Given the description of an element on the screen output the (x, y) to click on. 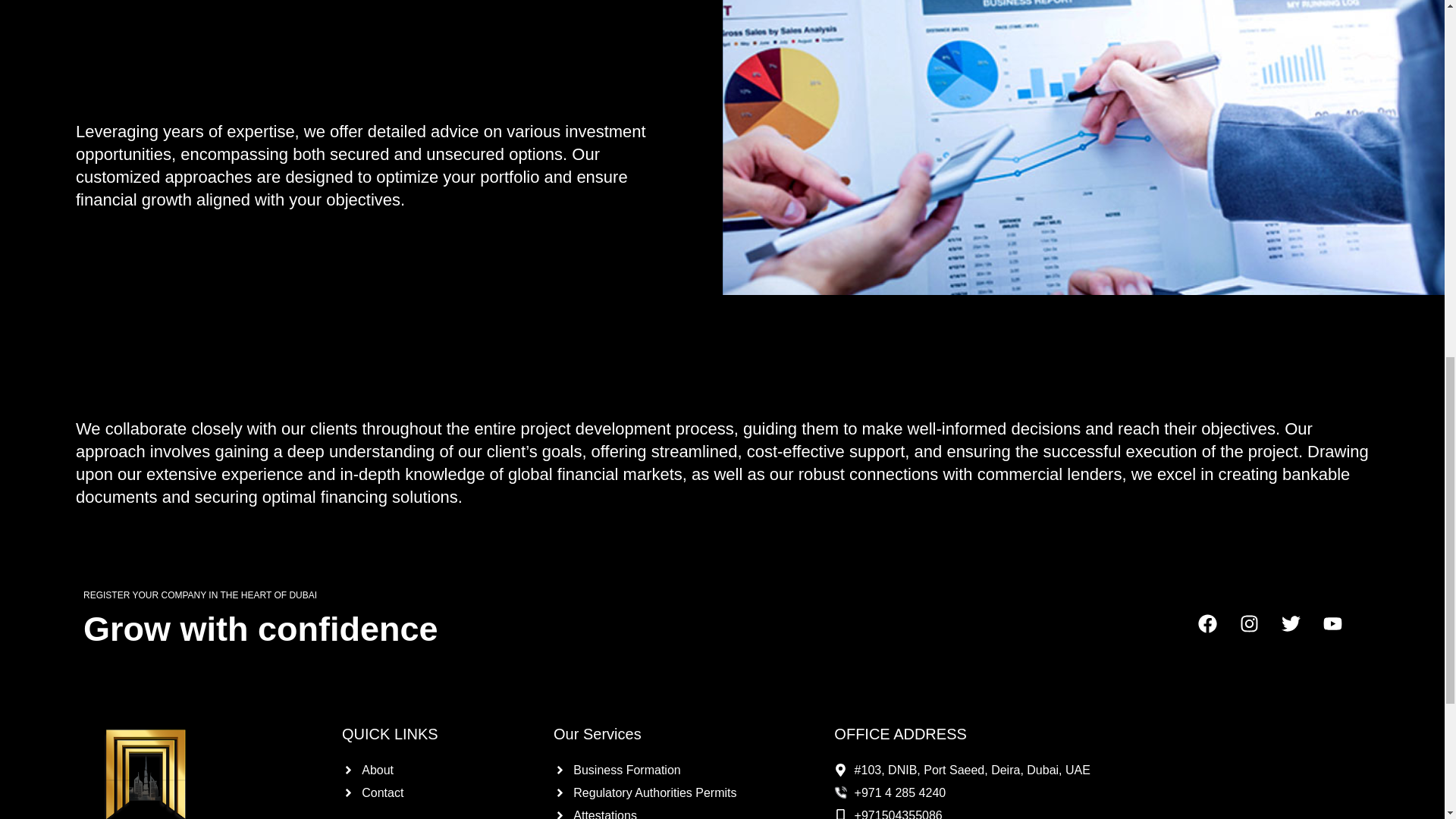
Regulatory Authorities Permits (681, 793)
Twitter (1300, 632)
Facebook (1217, 632)
Contact (440, 793)
Instagram (1259, 632)
Youtube (1342, 632)
Attestations (681, 811)
Business Formation (681, 770)
About (440, 770)
